Given the description of an element on the screen output the (x, y) to click on. 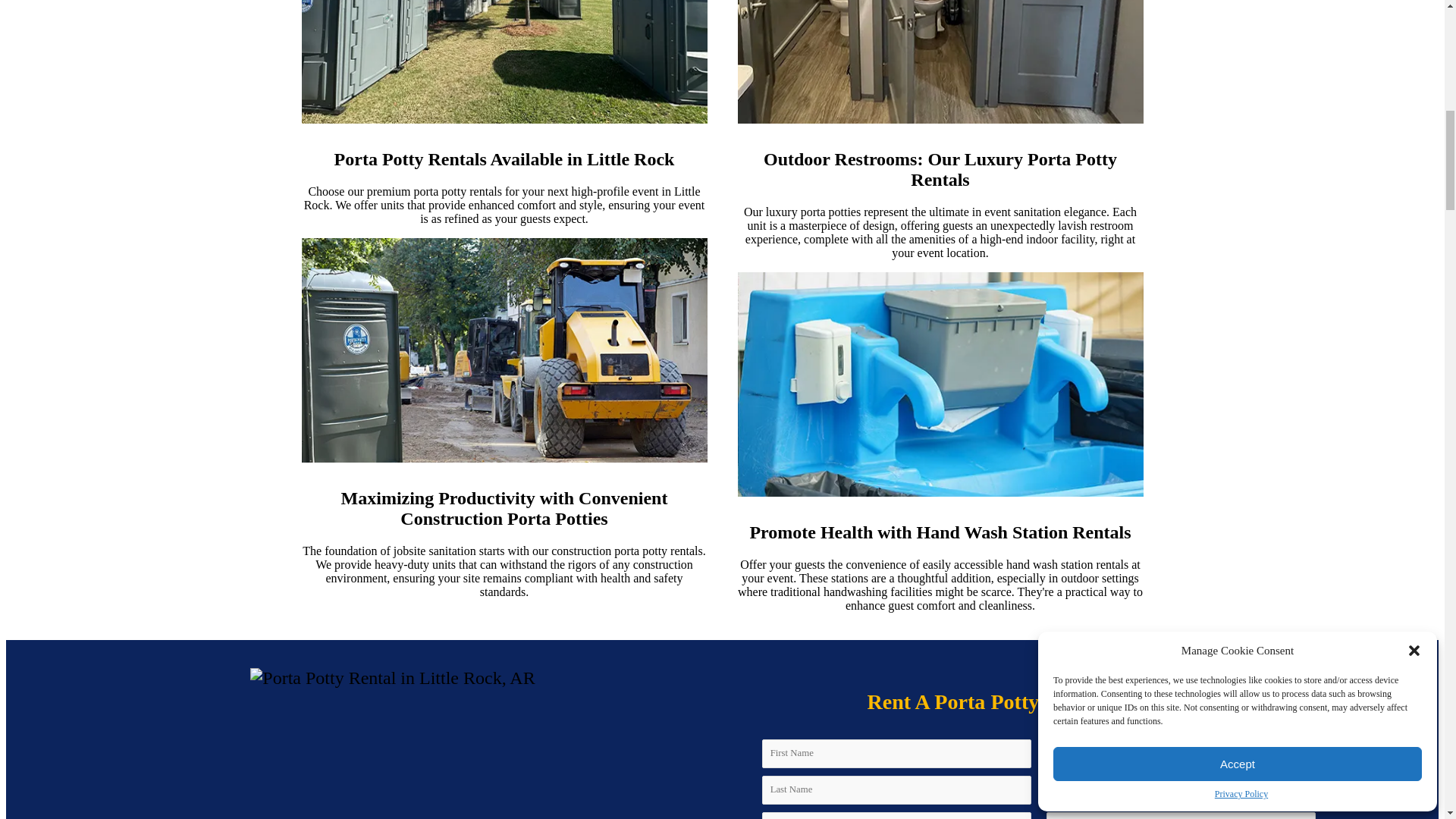
Porta Potty Rental in Little Rock, AR (392, 678)
Company (895, 815)
